Given the description of an element on the screen output the (x, y) to click on. 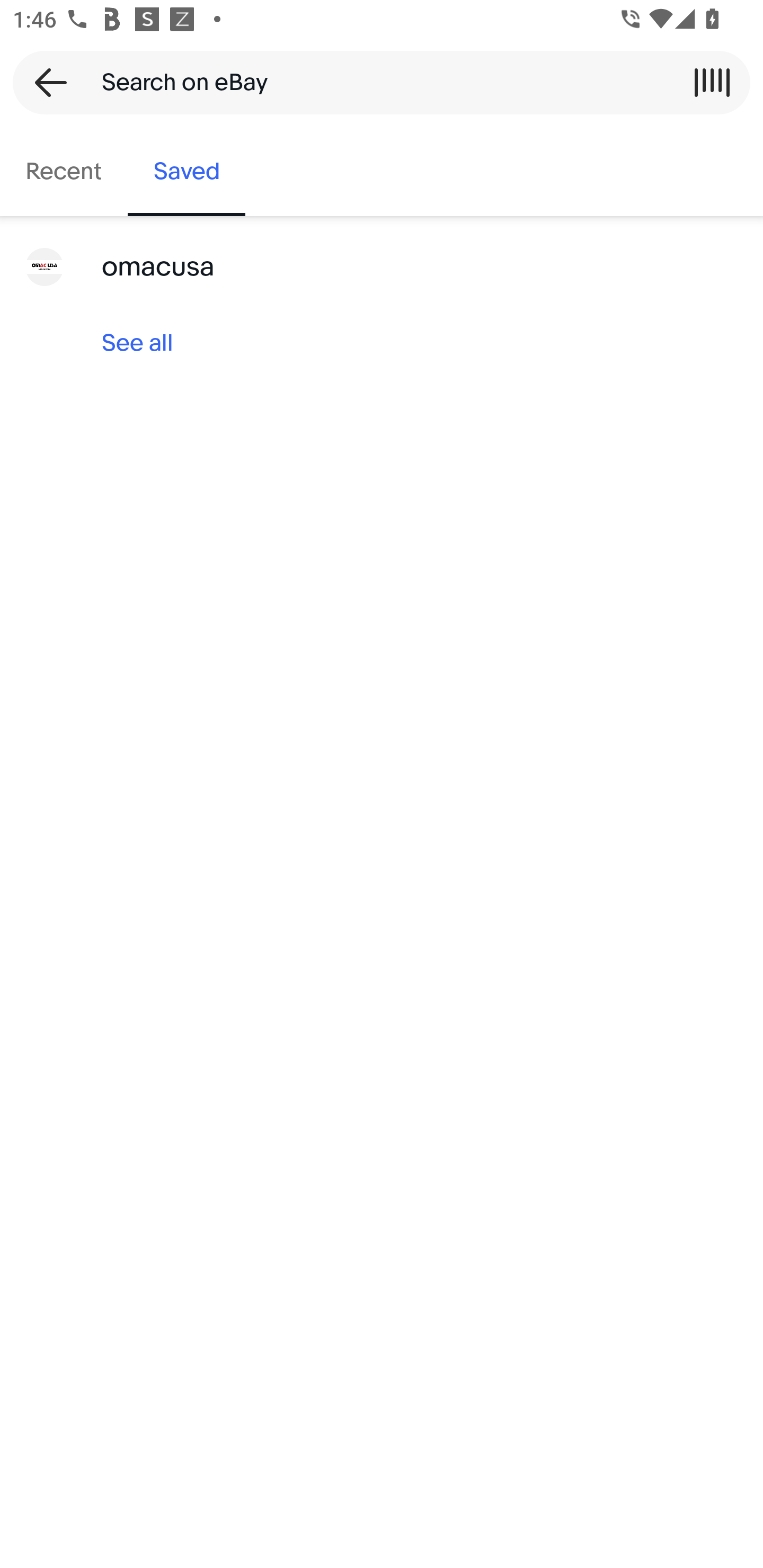
Back (44, 82)
Scan a barcode (711, 82)
Search on eBay (375, 82)
Recent, tab 1 of 2 Recent (63, 171)
User Search omacusa: omacusa (381, 266)
See all See all members (381, 343)
